Given the description of an element on the screen output the (x, y) to click on. 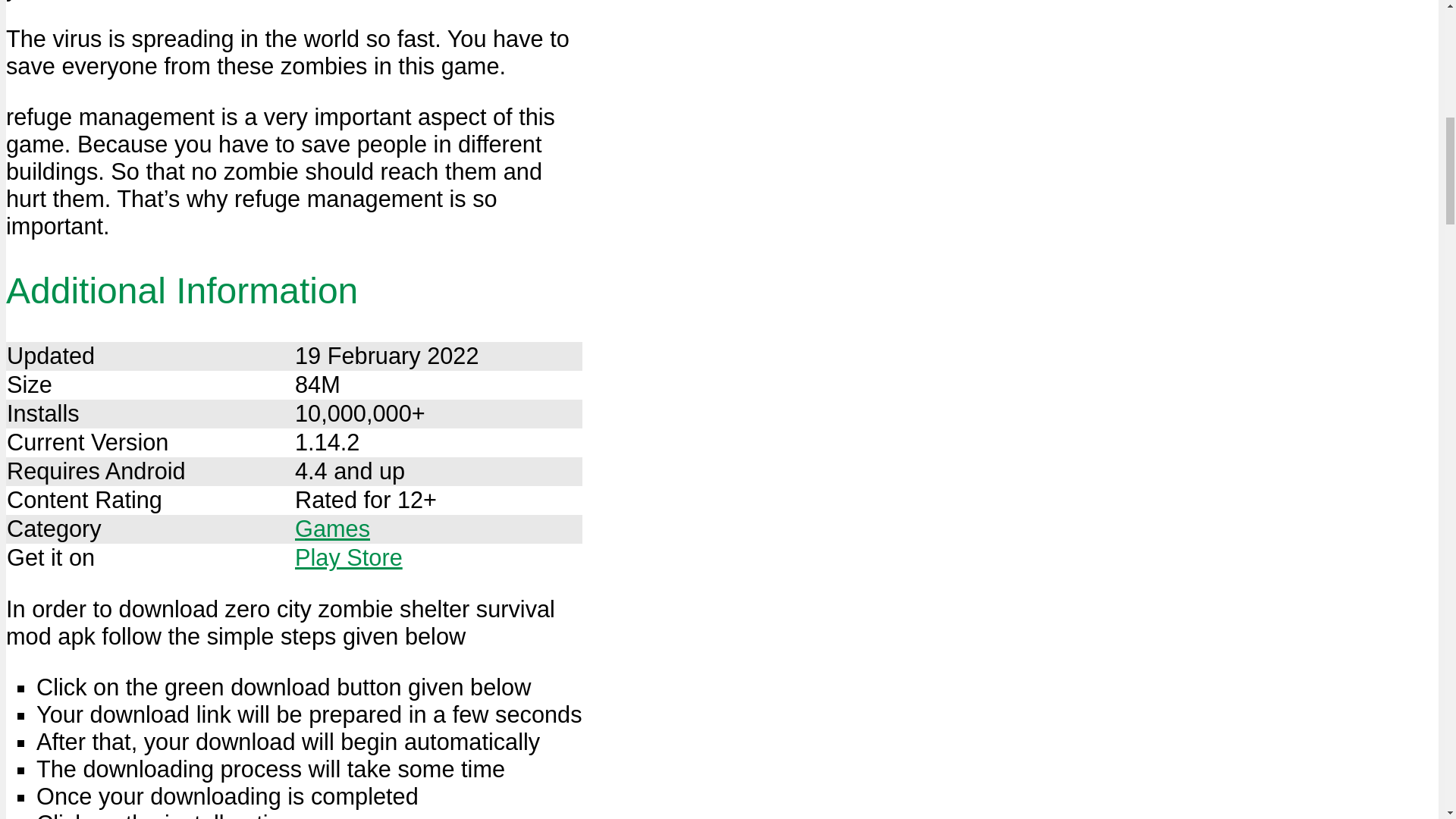
Games (332, 528)
Play Store (349, 557)
